Given the description of an element on the screen output the (x, y) to click on. 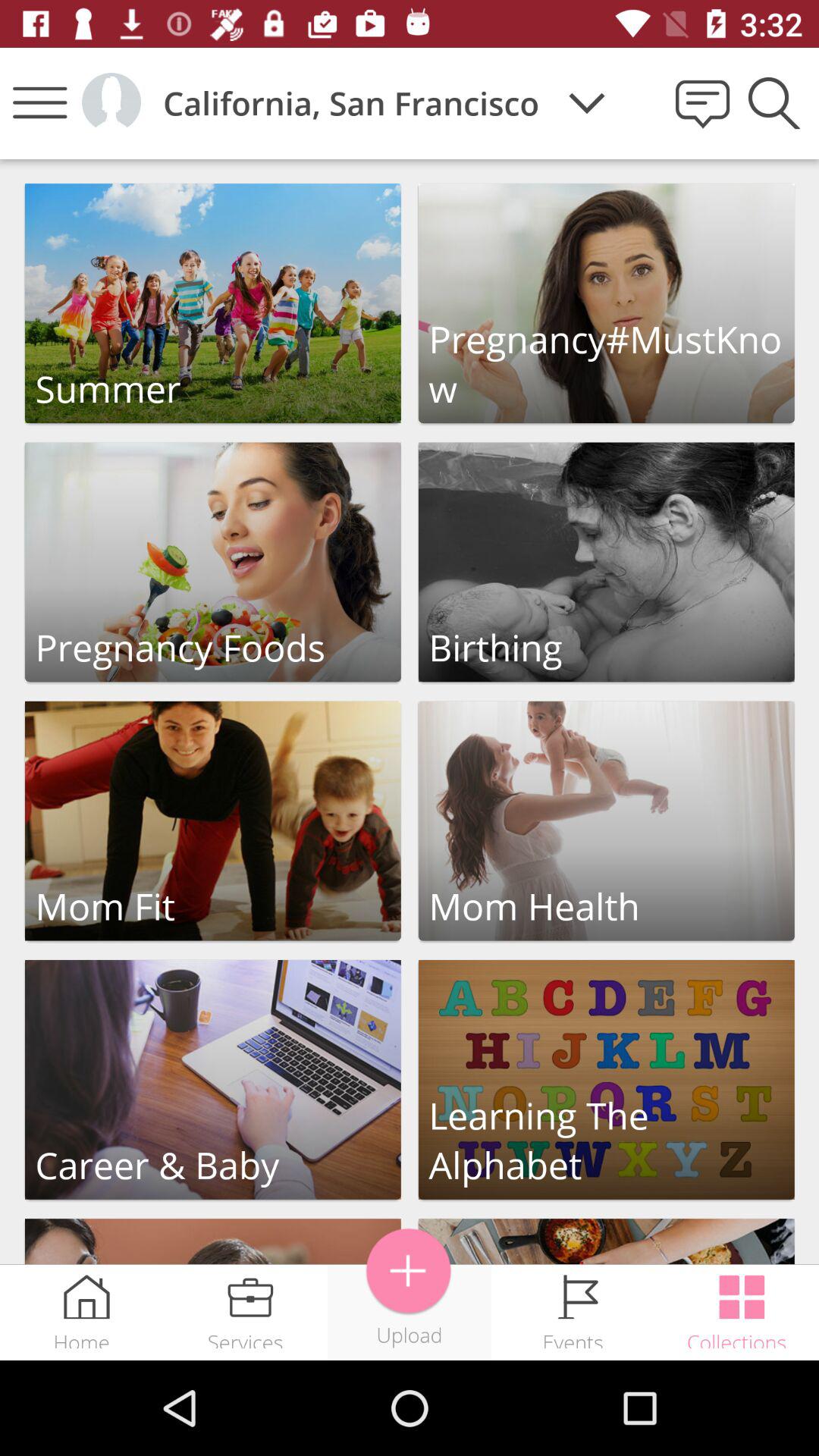
select the option (212, 1079)
